Given the description of an element on the screen output the (x, y) to click on. 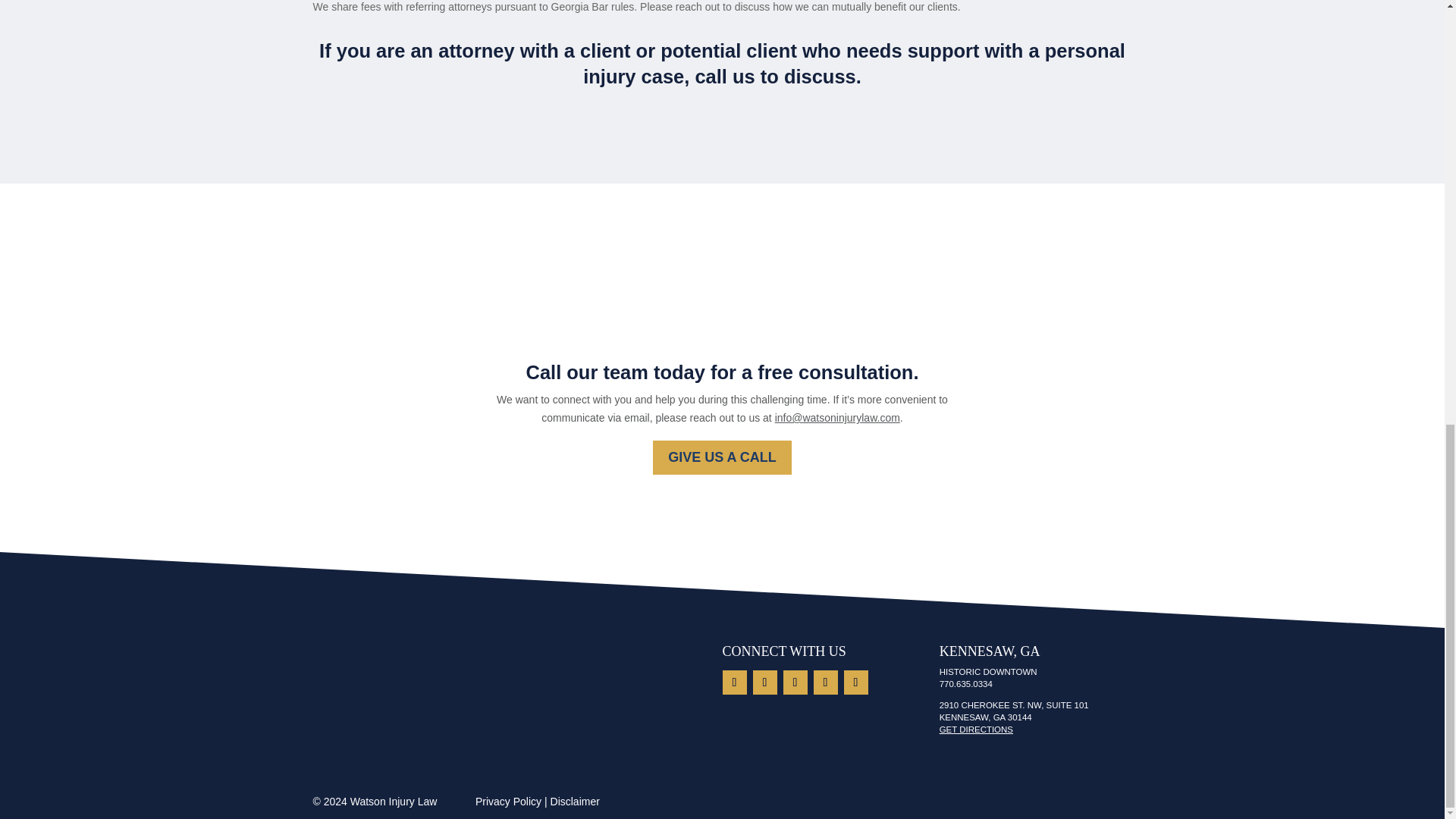
Follow on LinkedIn (733, 682)
Follow on Mail (855, 682)
Follow on Instagram (764, 682)
Follow on Facebook (794, 682)
Follow on Youtube (824, 682)
